Given the description of an element on the screen output the (x, y) to click on. 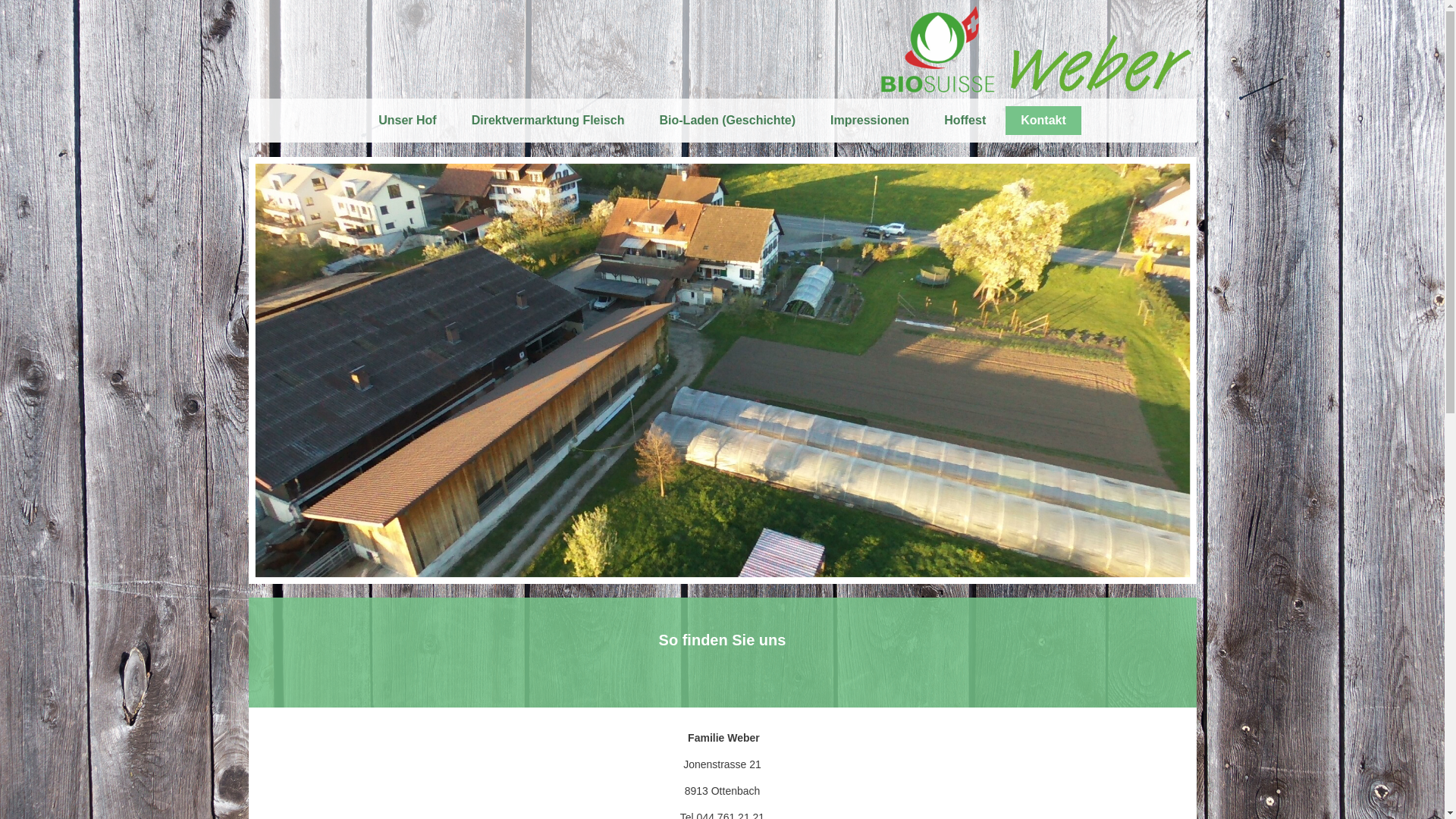
Bio-Laden (Geschichte) Element type: text (727, 120)
Direktvermarktung Fleisch Element type: text (548, 120)
Unser Hof Element type: text (407, 120)
Impressionen Element type: text (869, 120)
Kontakt Element type: text (1043, 120)
Hoffest Element type: text (964, 120)
